Given the description of an element on the screen output the (x, y) to click on. 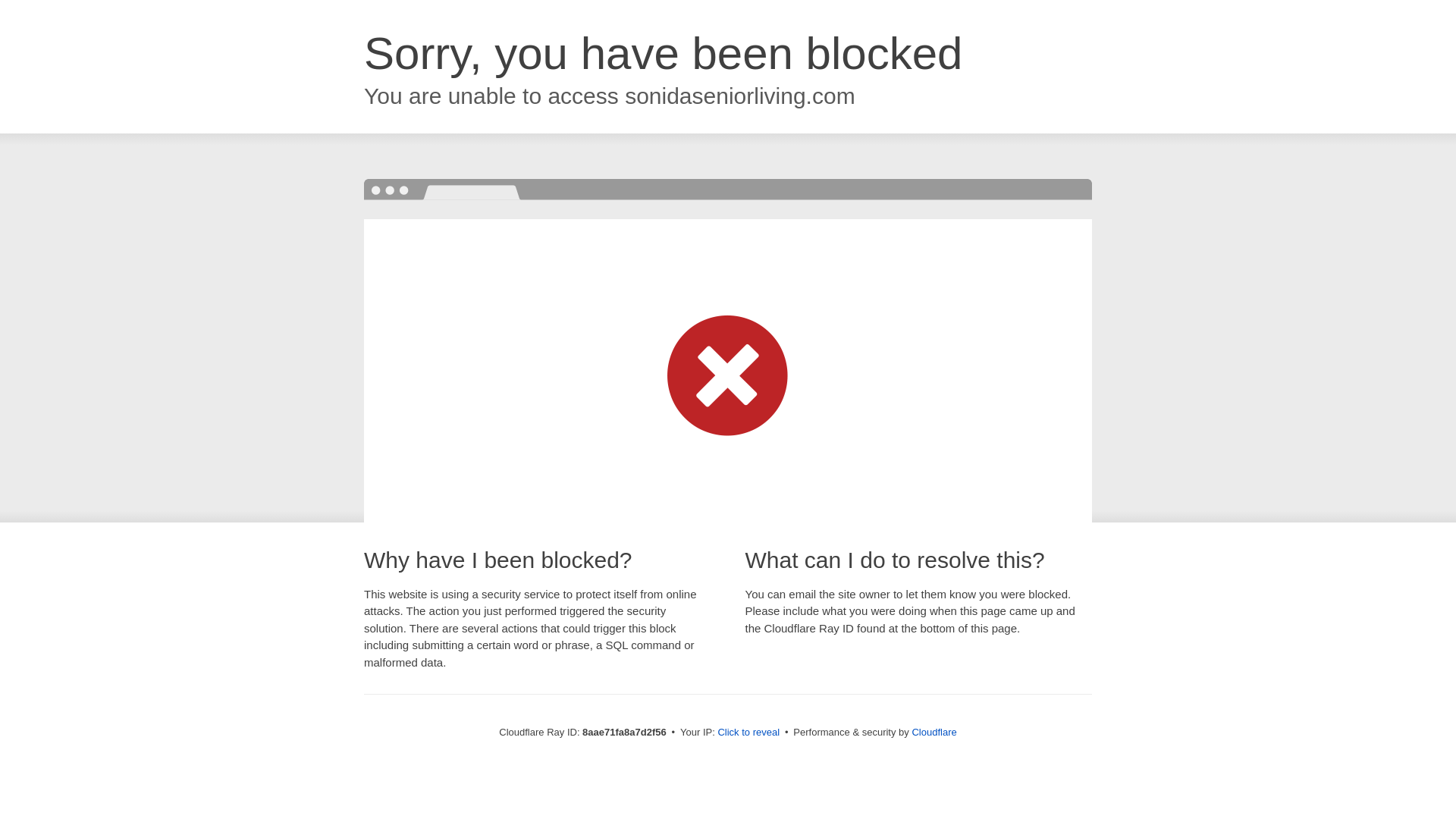
Click to reveal (747, 732)
Cloudflare (933, 731)
